Given the description of an element on the screen output the (x, y) to click on. 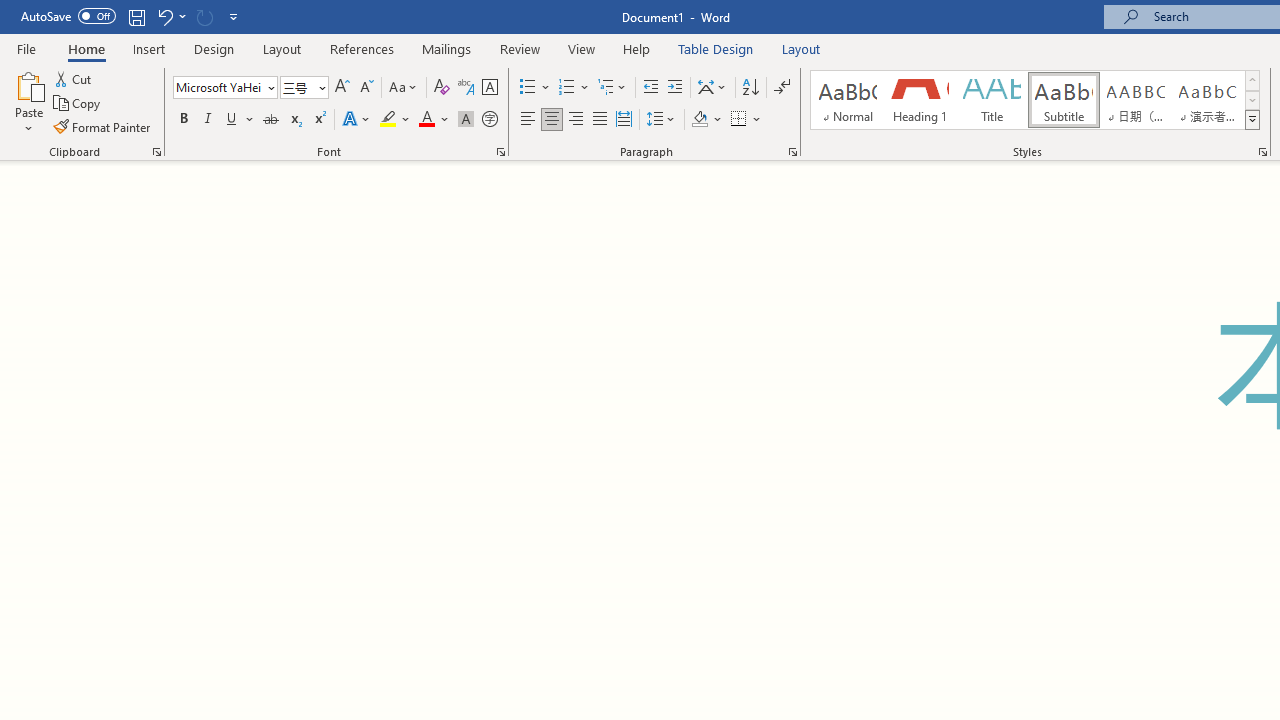
Font Color (434, 119)
Enclose Characters... (489, 119)
Paragraph... (792, 151)
Subscript (294, 119)
Copy (78, 103)
Title (991, 100)
Font Color Red (426, 119)
Justify (599, 119)
Show/Hide Editing Marks (781, 87)
Insert (149, 48)
Format Painter (103, 126)
Row Down (1252, 100)
